Given the description of an element on the screen output the (x, y) to click on. 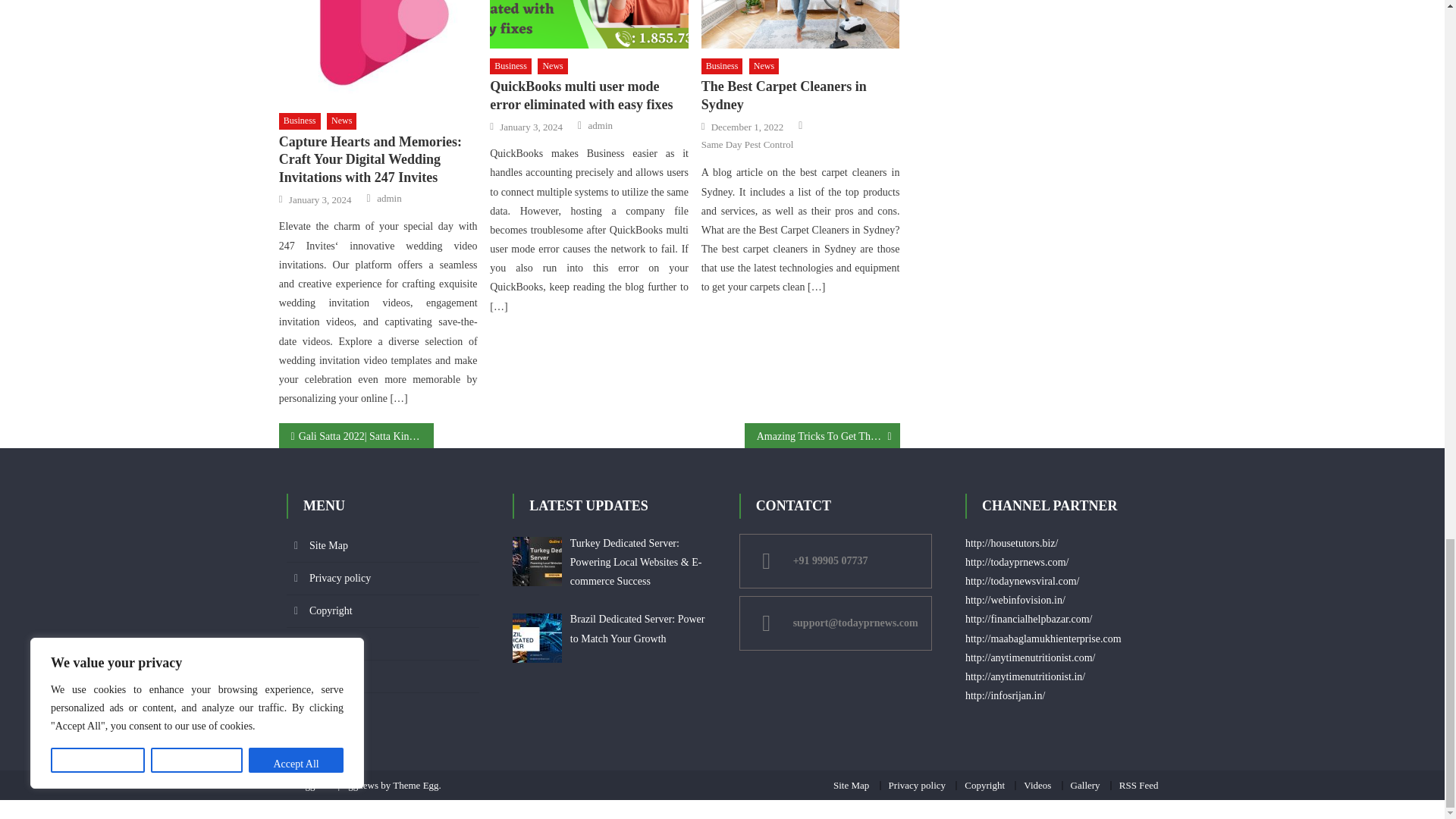
QuickBooks multi user mode error eliminated with easy fixes (588, 24)
The Best Carpet Cleaners in Sydney (800, 24)
